Given the description of an element on the screen output the (x, y) to click on. 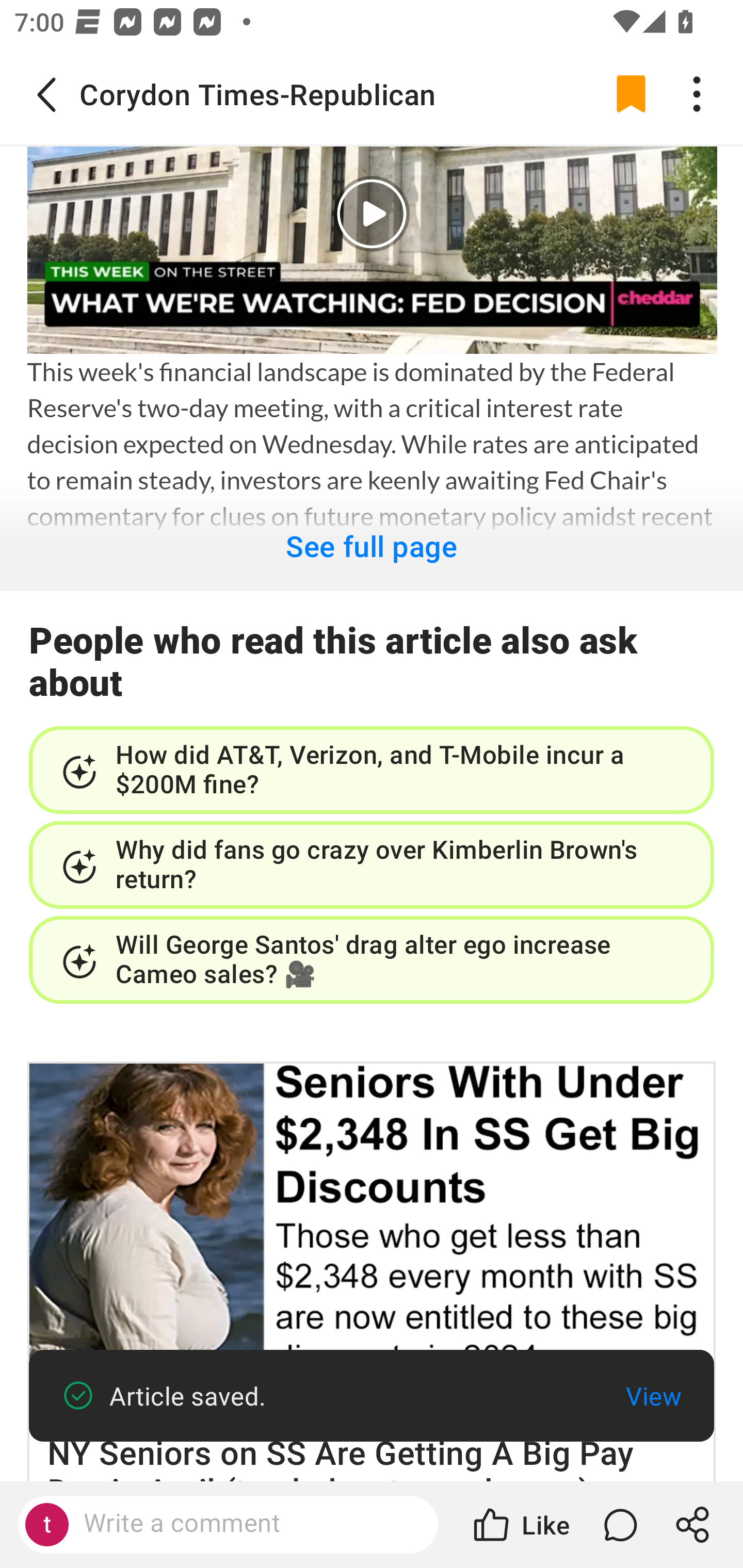
Play Video (371, 213)
See full page (371, 536)
View (653, 1395)
Like (519, 1524)
Write a comment (245, 1523)
